Given the description of an element on the screen output the (x, y) to click on. 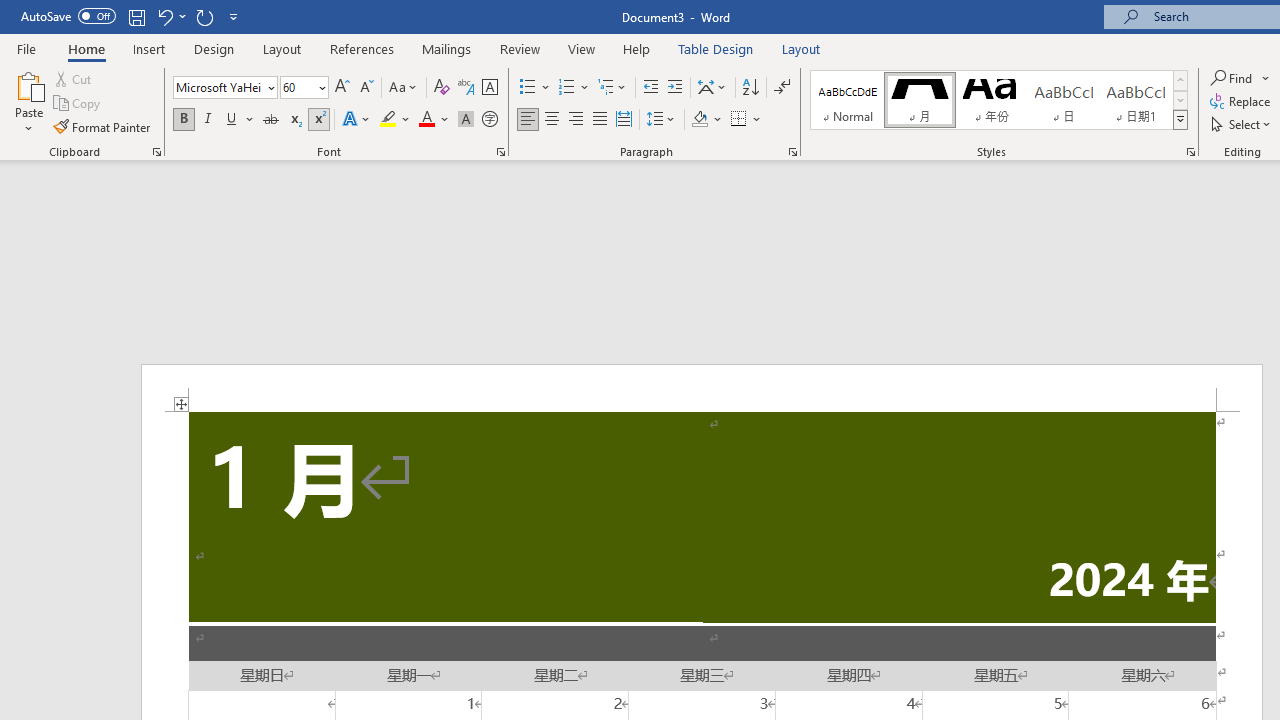
Underline (232, 119)
References (362, 48)
